Given the description of an element on the screen output the (x, y) to click on. 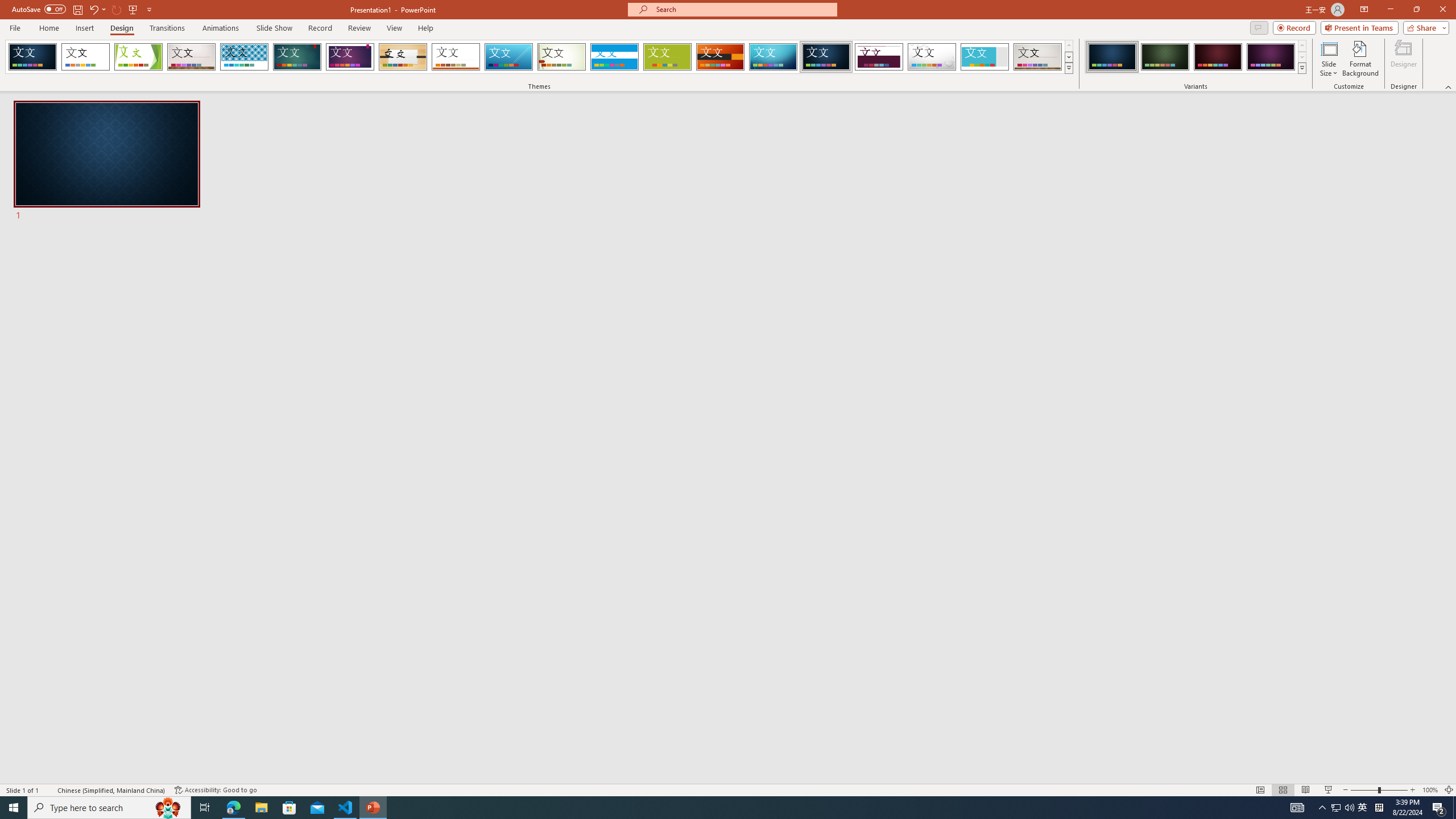
Variants (1301, 67)
Damask Variant 3 (1217, 56)
Circuit Loading Preview... (772, 56)
Themes (1068, 67)
